Given the description of an element on the screen output the (x, y) to click on. 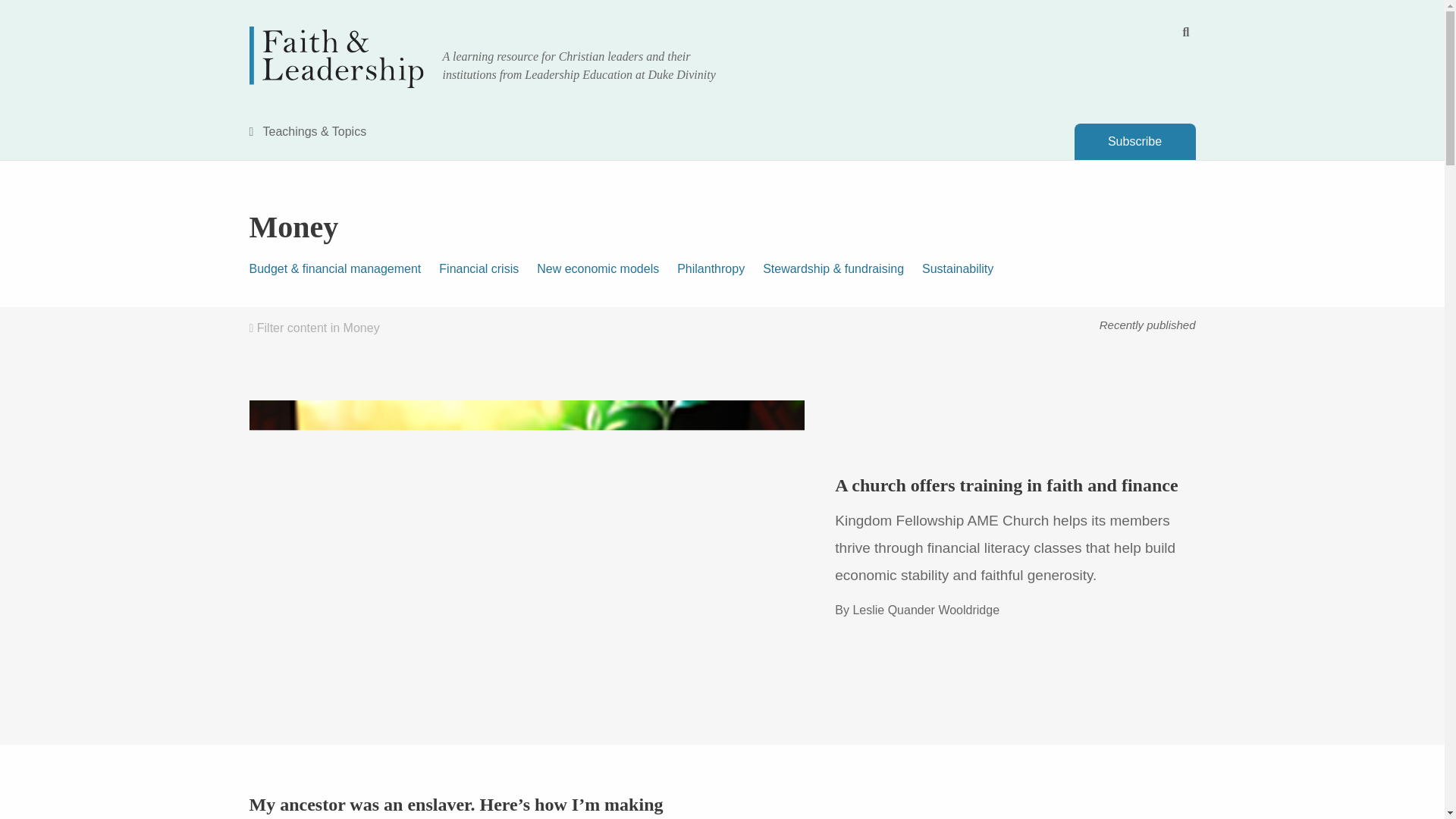
Toggle Search (1185, 32)
Financial crisis (488, 268)
New economic models (607, 268)
Sustainability (966, 268)
Philanthropy (719, 268)
Filter content in Money (313, 328)
A church offers training in faith and finance (1005, 485)
Subscribe (1134, 141)
